Given the description of an element on the screen output the (x, y) to click on. 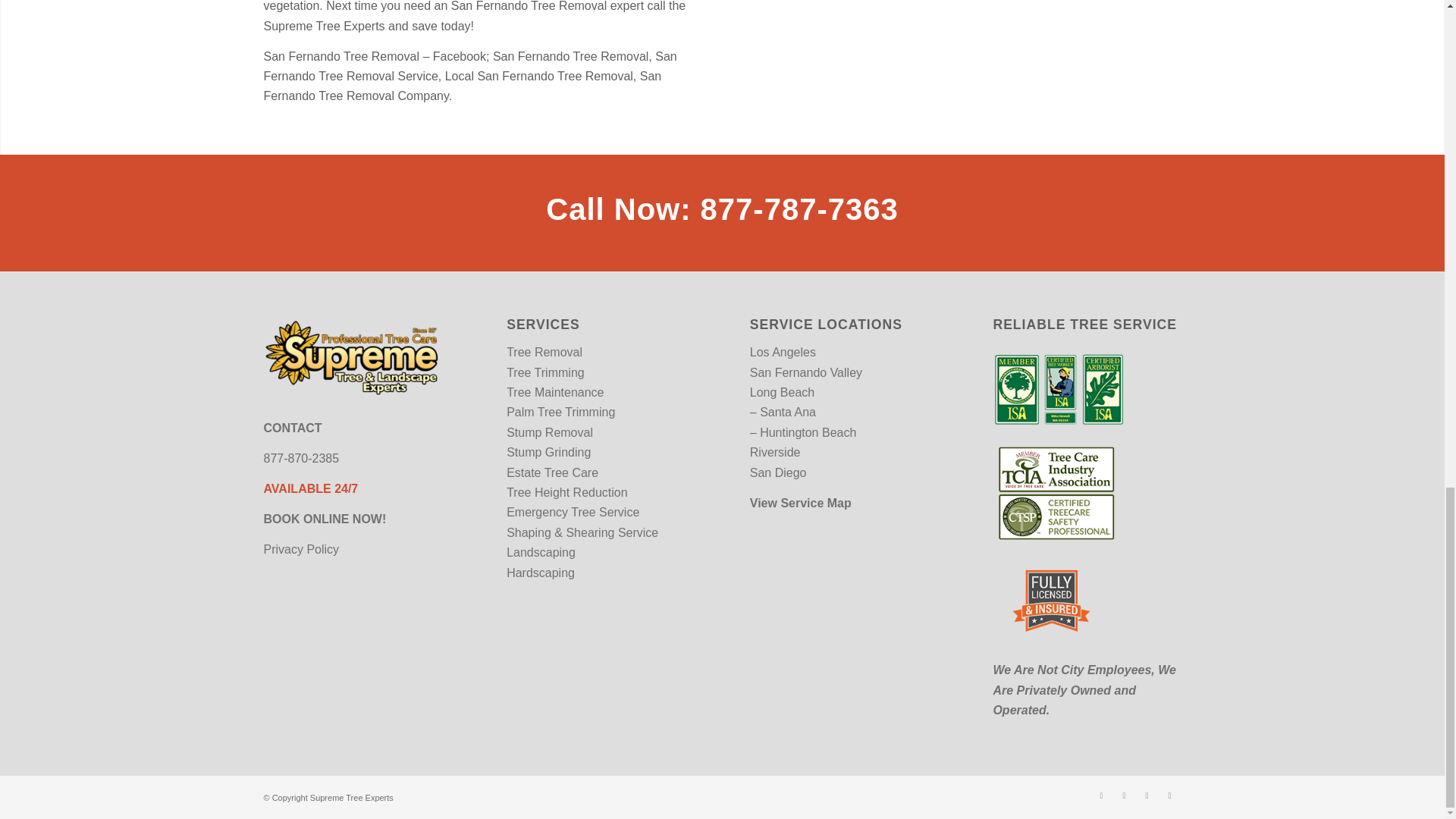
Linkedin (1169, 794)
Facebook (1101, 794)
Instagram (1146, 794)
Twitter (1124, 794)
